Given the description of an element on the screen output the (x, y) to click on. 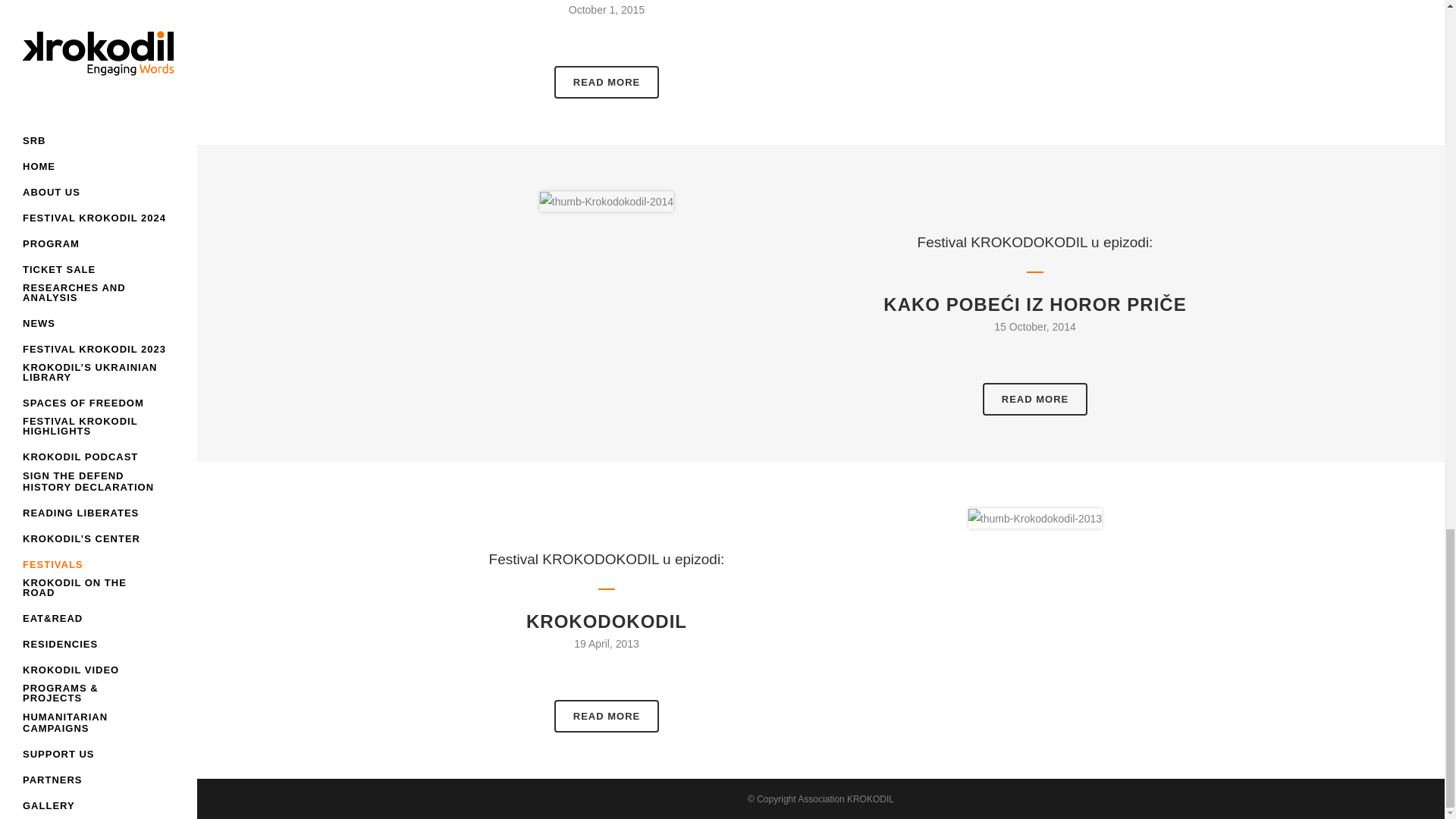
thumb-Krokodokodil-2014 (606, 201)
thumb-Krokodokodil-2013 (1035, 518)
